Given the description of an element on the screen output the (x, y) to click on. 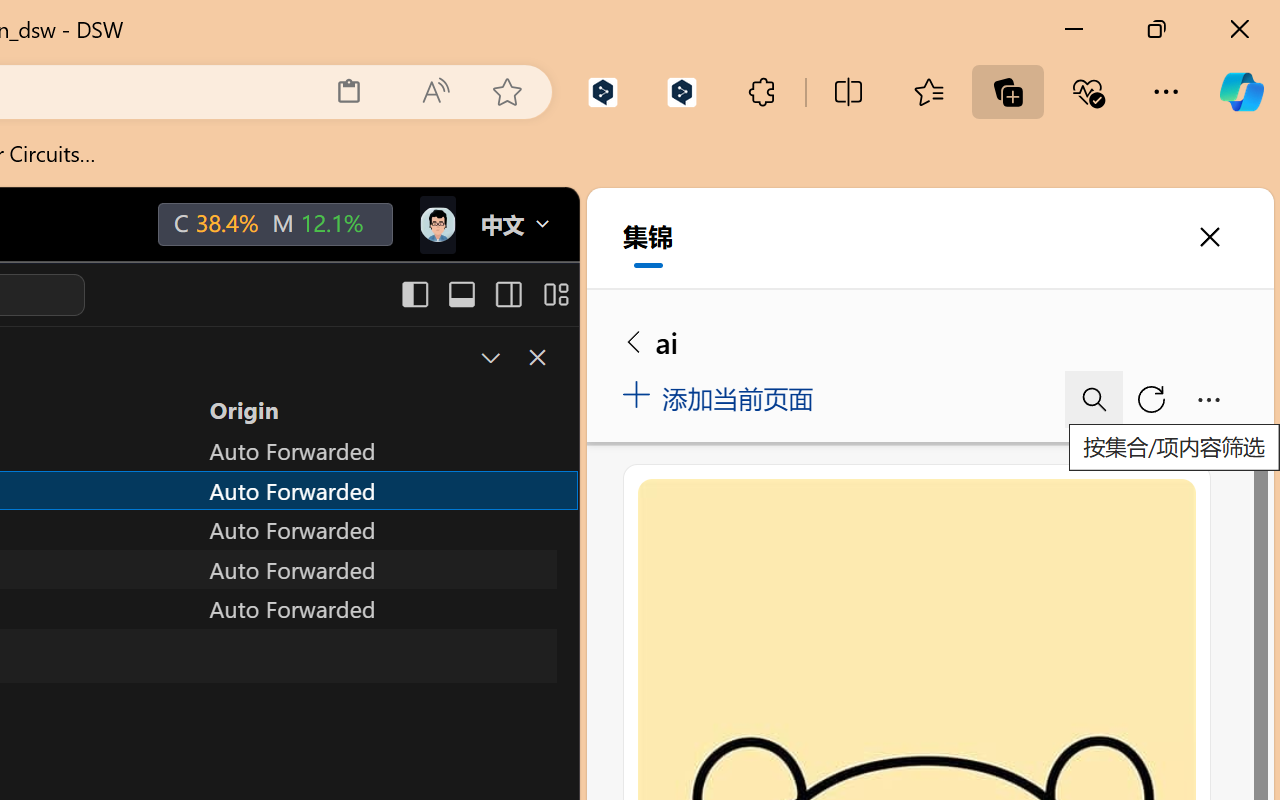
Copilot (Ctrl+Shift+.) (1241, 91)
icon (436, 224)
Close Panel (535, 357)
Title actions (484, 294)
Toggle Primary Side Bar (Ctrl+B) (413, 294)
icon (436, 220)
